Given the description of an element on the screen output the (x, y) to click on. 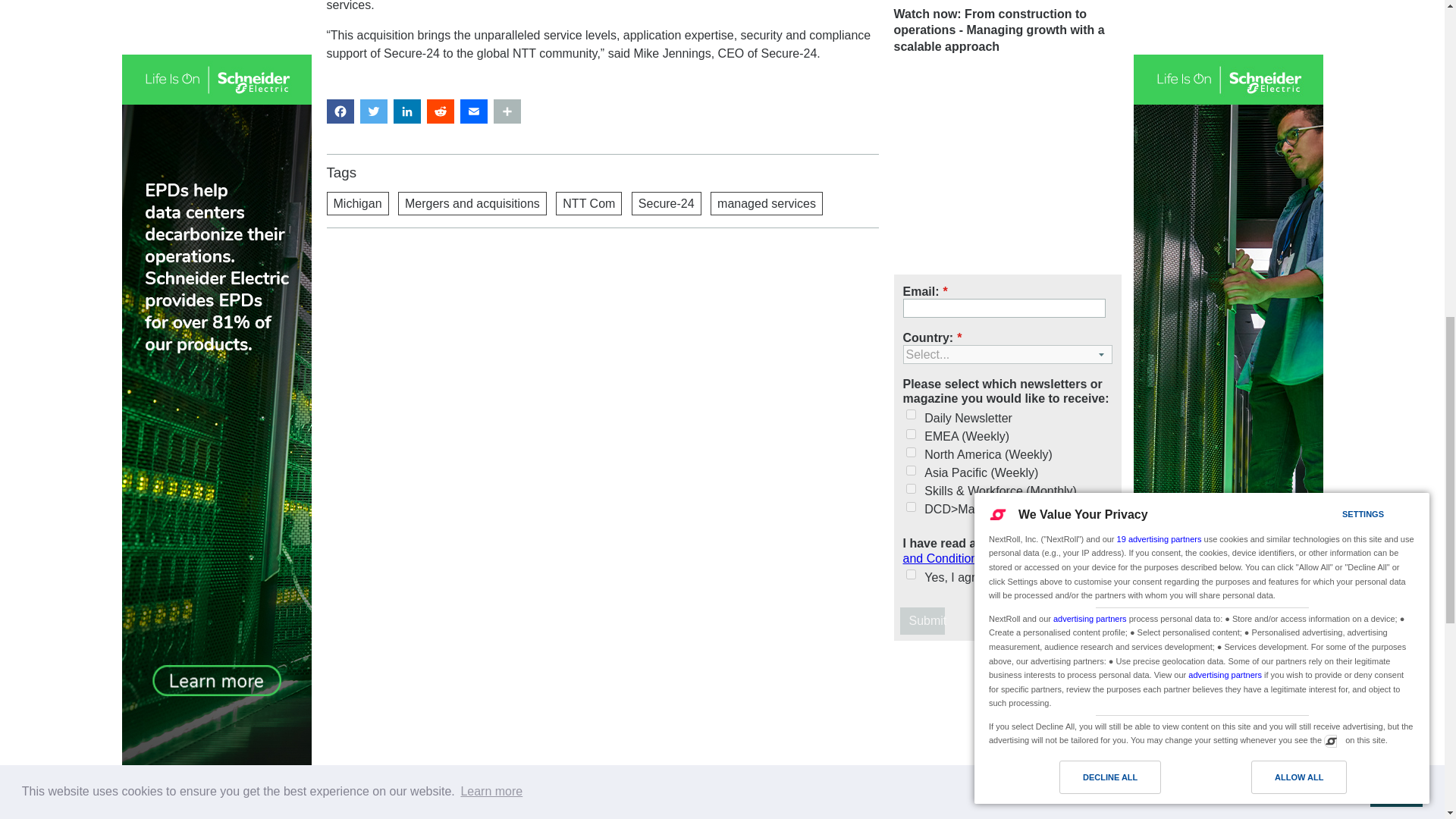
Fortnightly Asia newsletter (910, 470)
Weekly EMEA newsletter (910, 433)
Weekly North American newsletter (910, 452)
DMAG (910, 506)
Daily global newsletter (910, 414)
3rd party ad content (601, 292)
yes (910, 573)
3rd party ad content (1007, 167)
NLWOS (910, 488)
3rd party ad content (1007, 735)
